Given the description of an element on the screen output the (x, y) to click on. 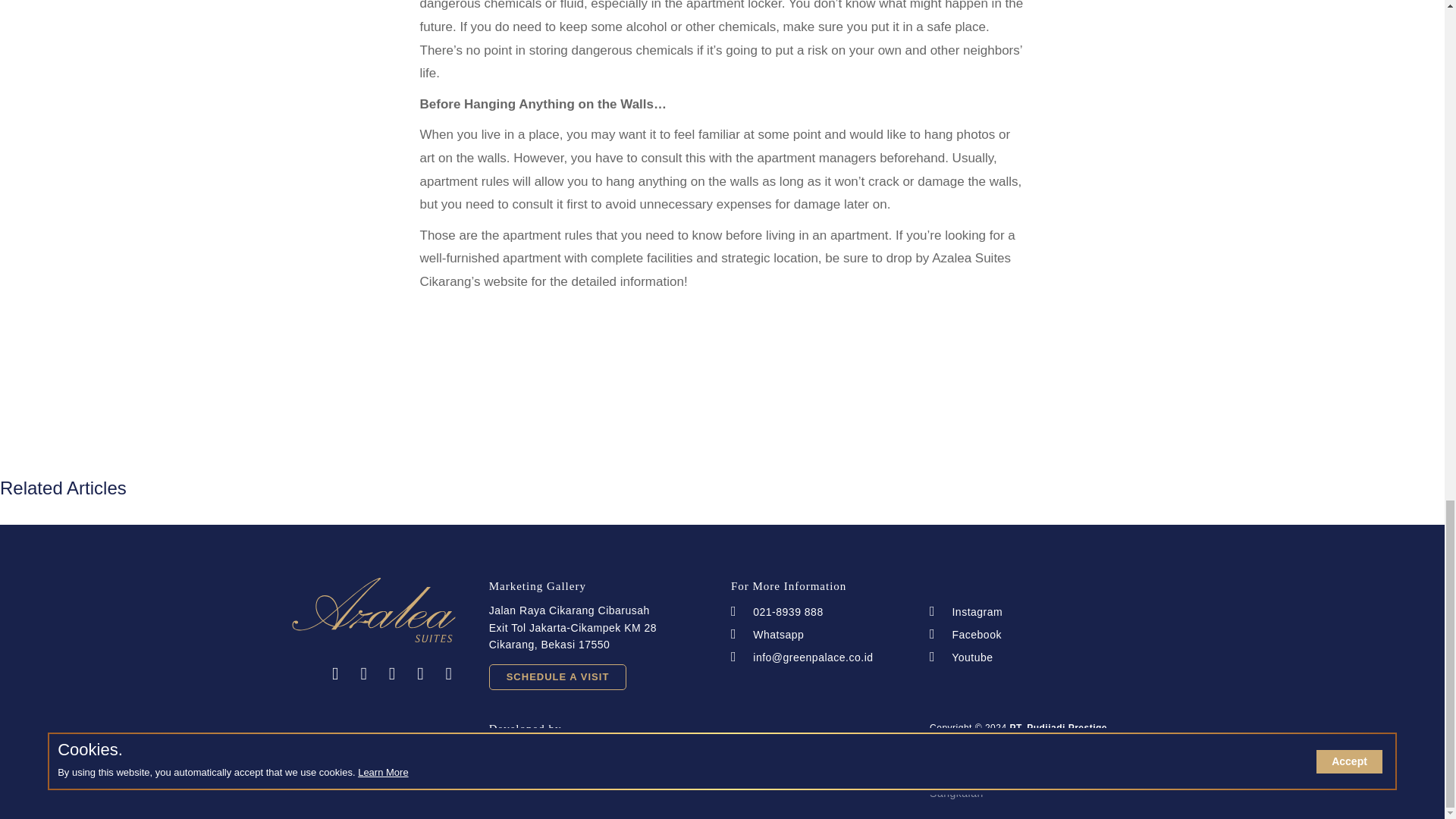
Instagram (1029, 611)
Whatsapp (817, 634)
021-8939 888 (817, 611)
SCHEDULE A VISIT (558, 677)
